Given the description of an element on the screen output the (x, y) to click on. 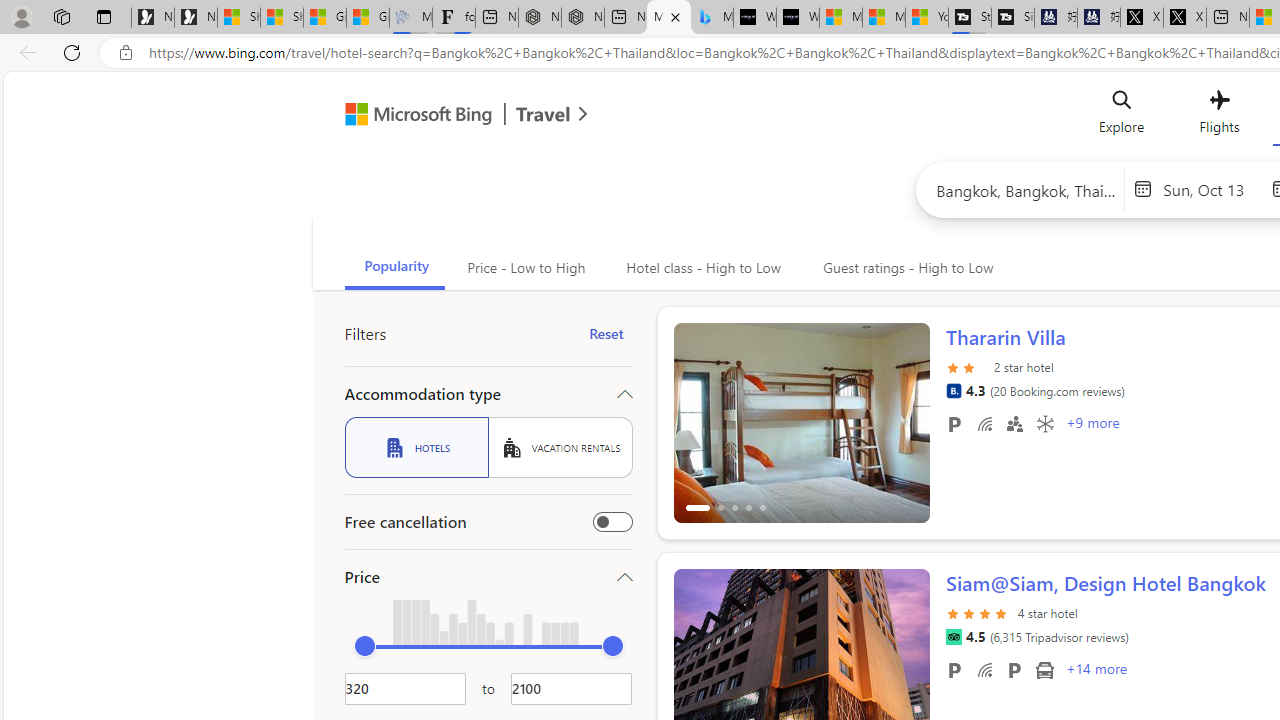
Booking.com (953, 390)
+14 More Amenities (1095, 671)
Guest ratings - High to Low (905, 268)
Microsoft Bing (410, 116)
ScrollLeft (697, 660)
Airport transportation (1044, 669)
Search hotels or place (1026, 190)
Reset (606, 333)
Slide 1 (801, 422)
